Given the description of an element on the screen output the (x, y) to click on. 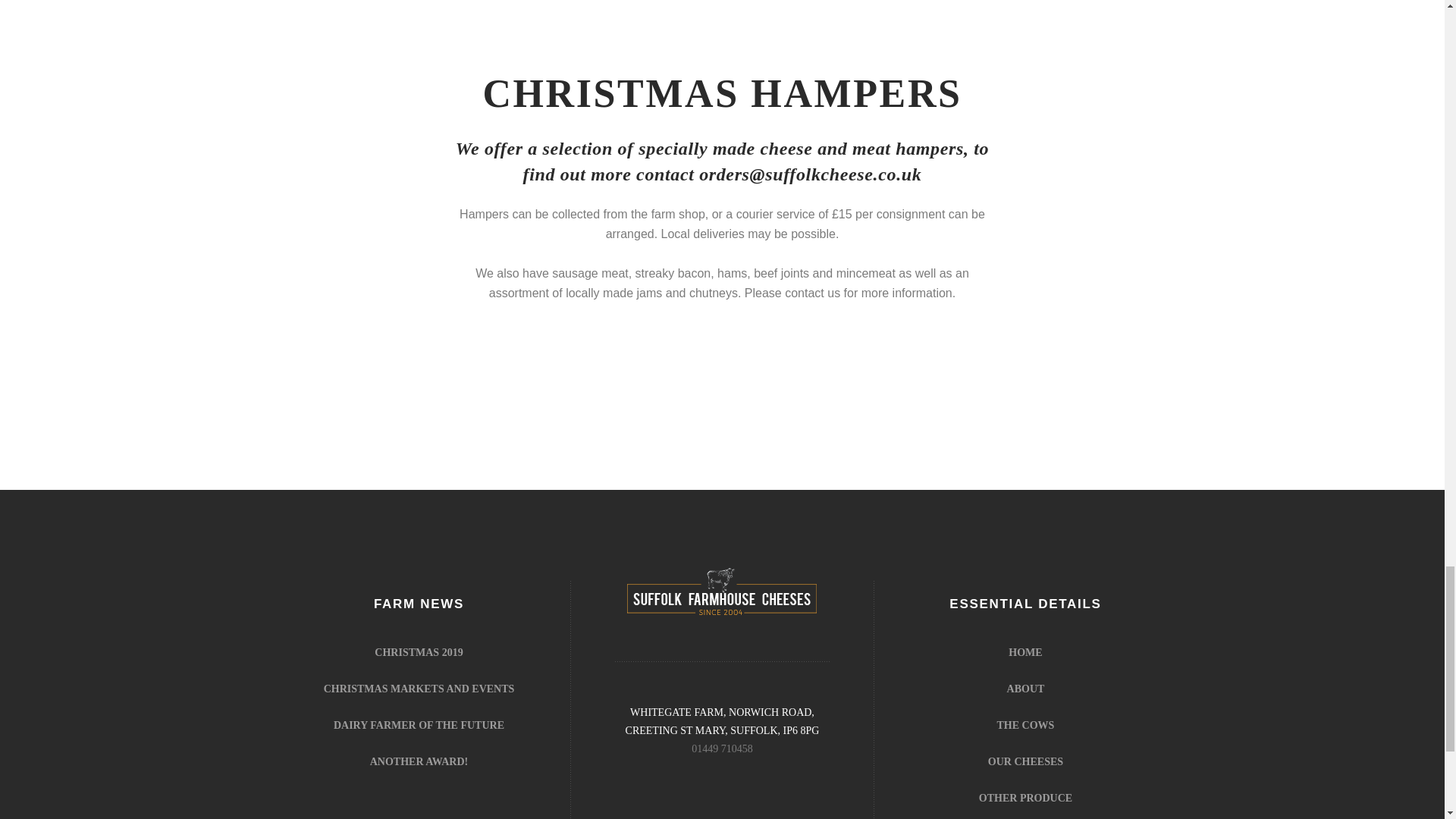
OUR CHEESES (1025, 761)
CHRISTMAS 2019 (418, 652)
ABOUT (1026, 688)
01449 710458 (721, 748)
HOME (1025, 652)
ANOTHER AWARD! (418, 761)
CHRISTMAS MARKETS AND EVENTS (419, 688)
DAIRY FARMER OF THE FUTURE (418, 725)
THE COWS (1025, 725)
